Given the description of an element on the screen output the (x, y) to click on. 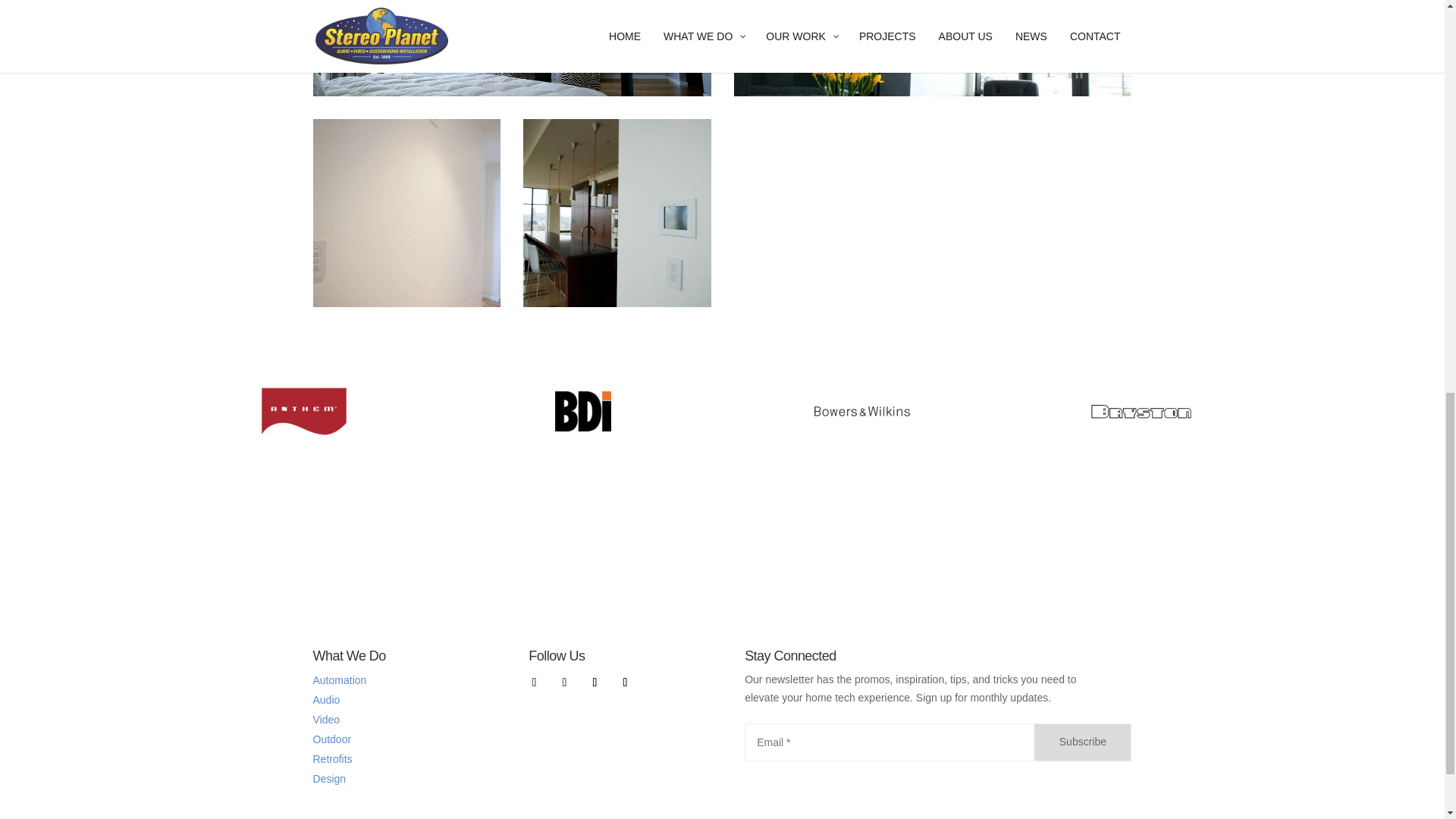
Follow on Facebook (533, 682)
subscribe (1082, 741)
Follow on LinkedIn (594, 682)
Follow on google-plus (563, 682)
Follow on Instagram (624, 682)
